Given the description of an element on the screen output the (x, y) to click on. 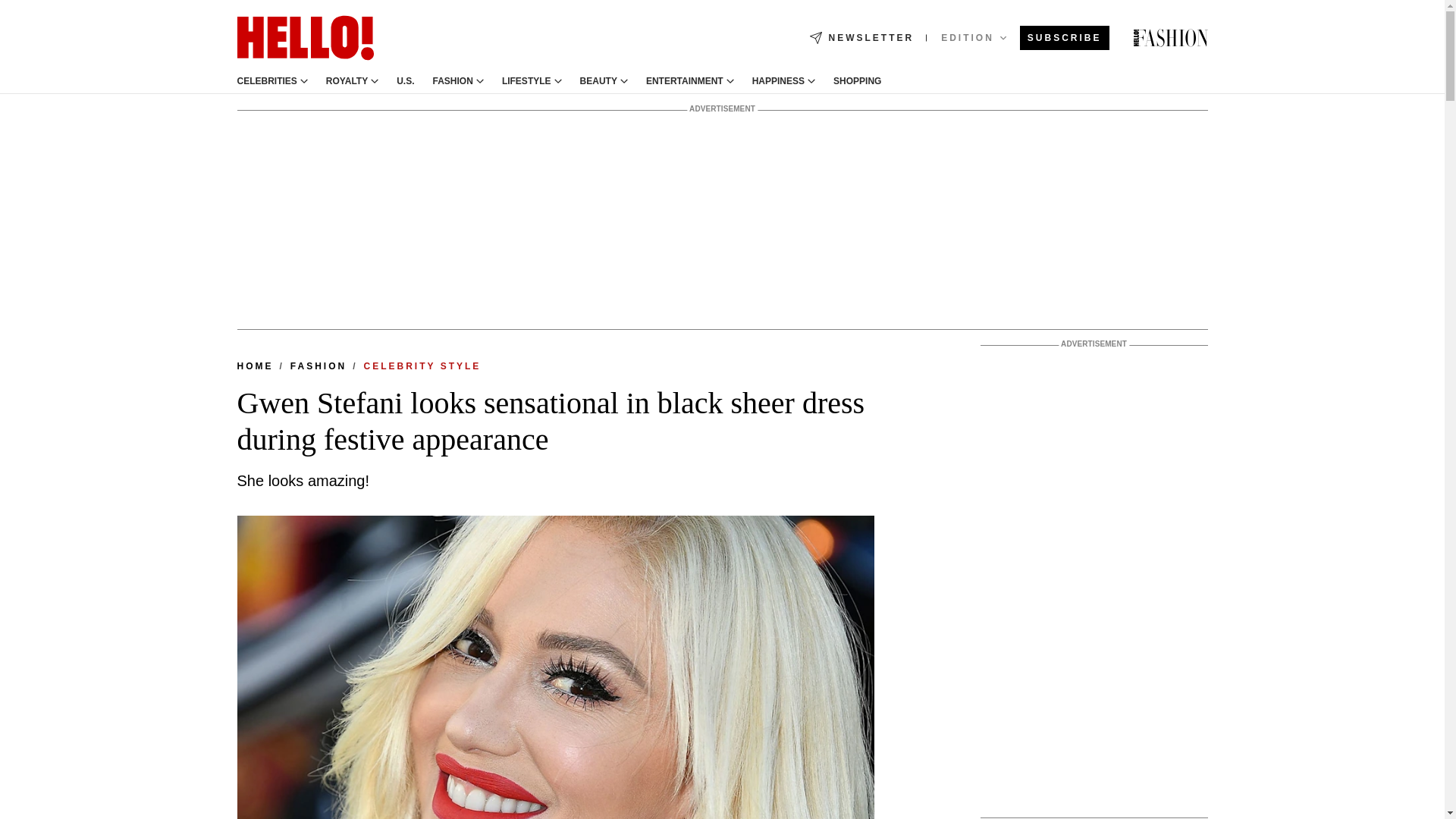
FASHION (452, 81)
BEAUTY (598, 81)
ROYALTY (347, 81)
NEWSLETTER (861, 38)
CELEBRITIES (266, 81)
U.S. (404, 81)
